Given the description of an element on the screen output the (x, y) to click on. 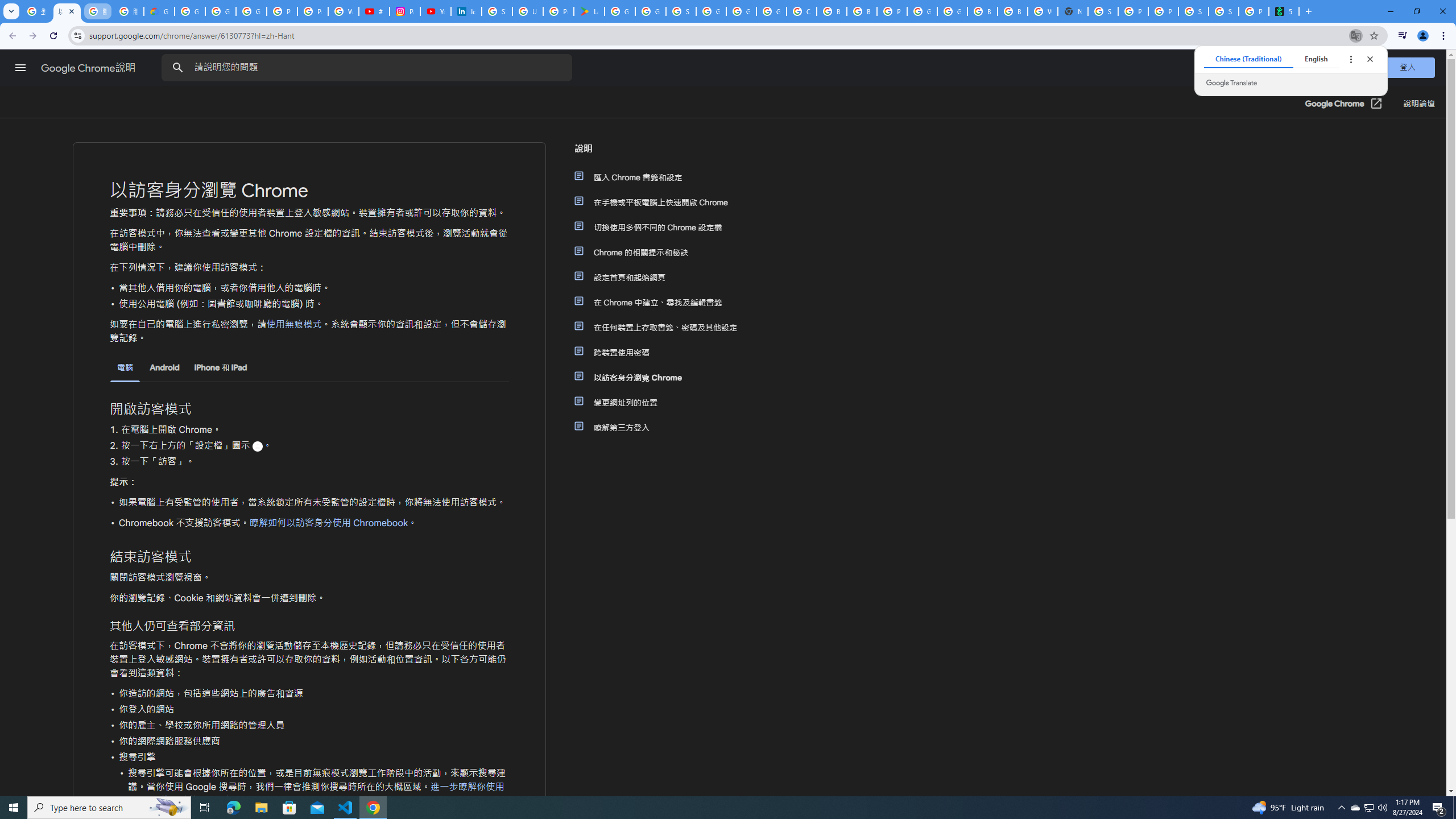
Sign in - Google Accounts (681, 11)
#nbabasketballhighlights - YouTube (373, 11)
Translate this page (1355, 35)
YouTube Culture & Trends - On The Rise: Handcam Videos (434, 11)
